Given the description of an element on the screen output the (x, y) to click on. 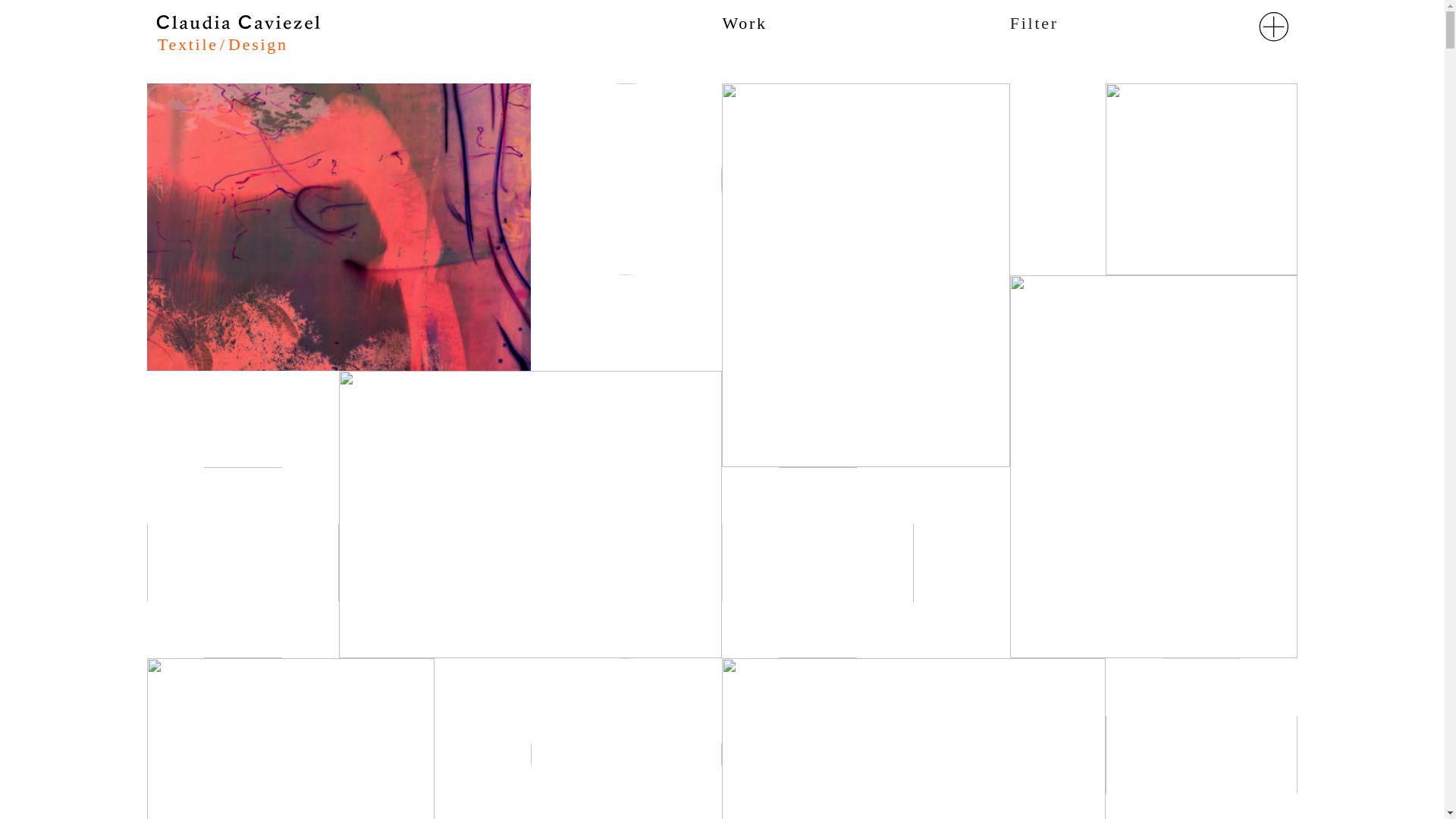
Filter Element type: text (1034, 23)
Work Element type: text (744, 22)
